Given the description of an element on the screen output the (x, y) to click on. 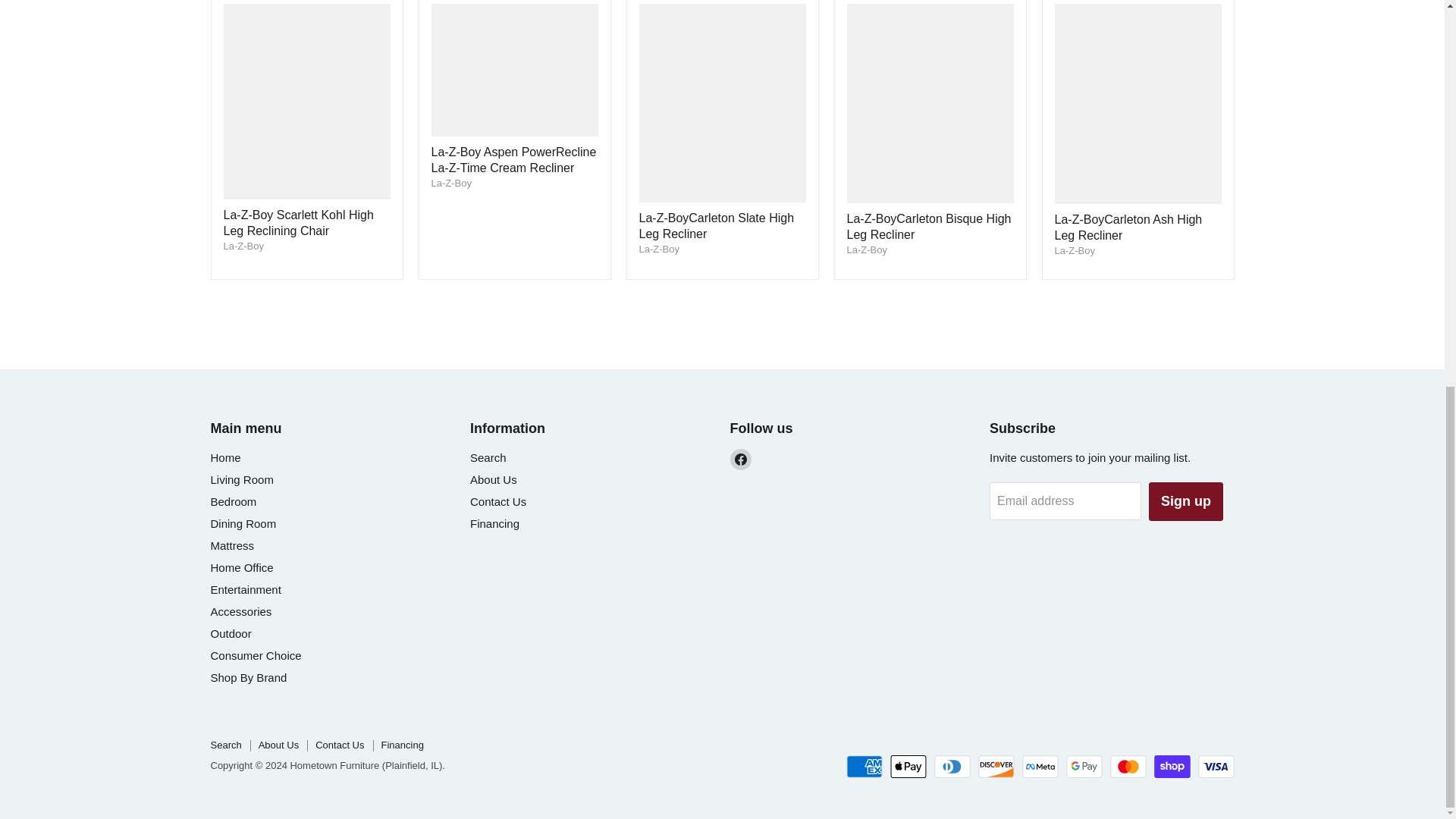
Facebook (740, 459)
La-Z-Boy (865, 249)
La-Z-Boy (658, 248)
La-Z-Boy (1074, 250)
La-Z-Boy (450, 183)
American Express (863, 766)
La-Z-Boy (242, 245)
